Given the description of an element on the screen output the (x, y) to click on. 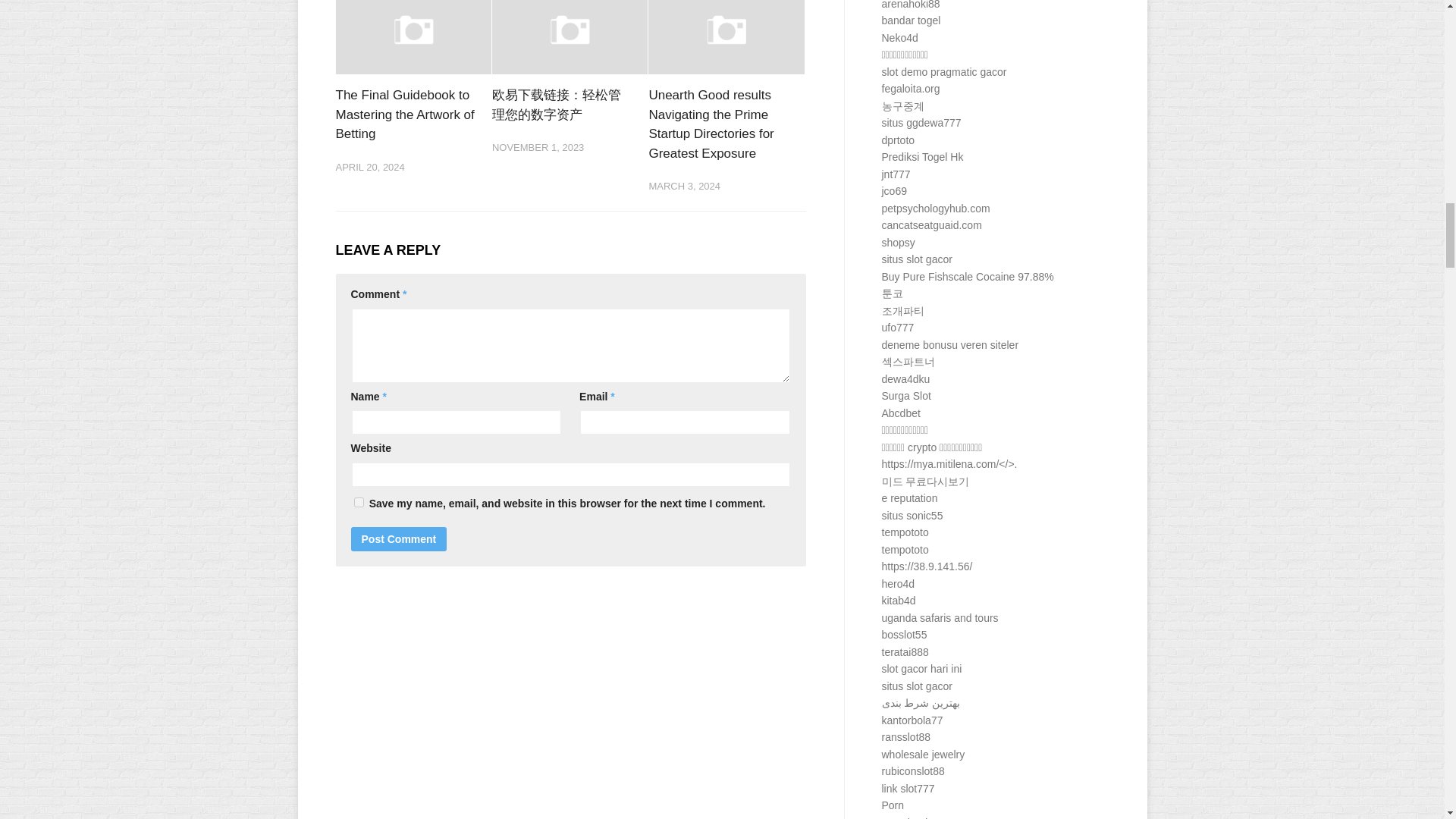
Post Comment (398, 539)
The Final Guidebook to Mastering the Artwork of Betting (404, 113)
yes (357, 501)
Post Comment (398, 539)
